Given the description of an element on the screen output the (x, y) to click on. 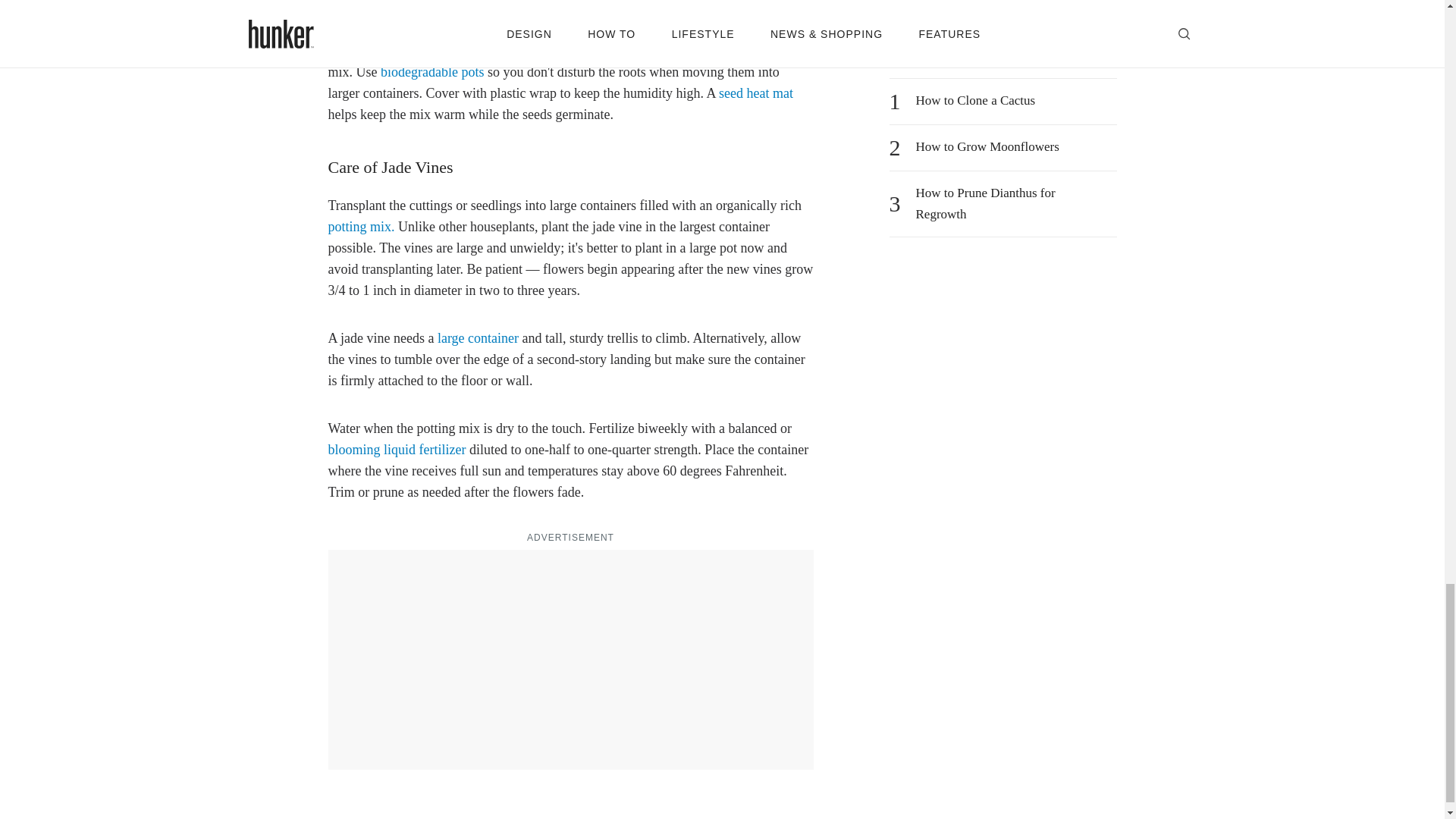
How to Grow Moonflowers (987, 147)
How to Clone a Cactus (975, 100)
How to Prune Dianthus for Regrowth (1012, 203)
